Given the description of an element on the screen output the (x, y) to click on. 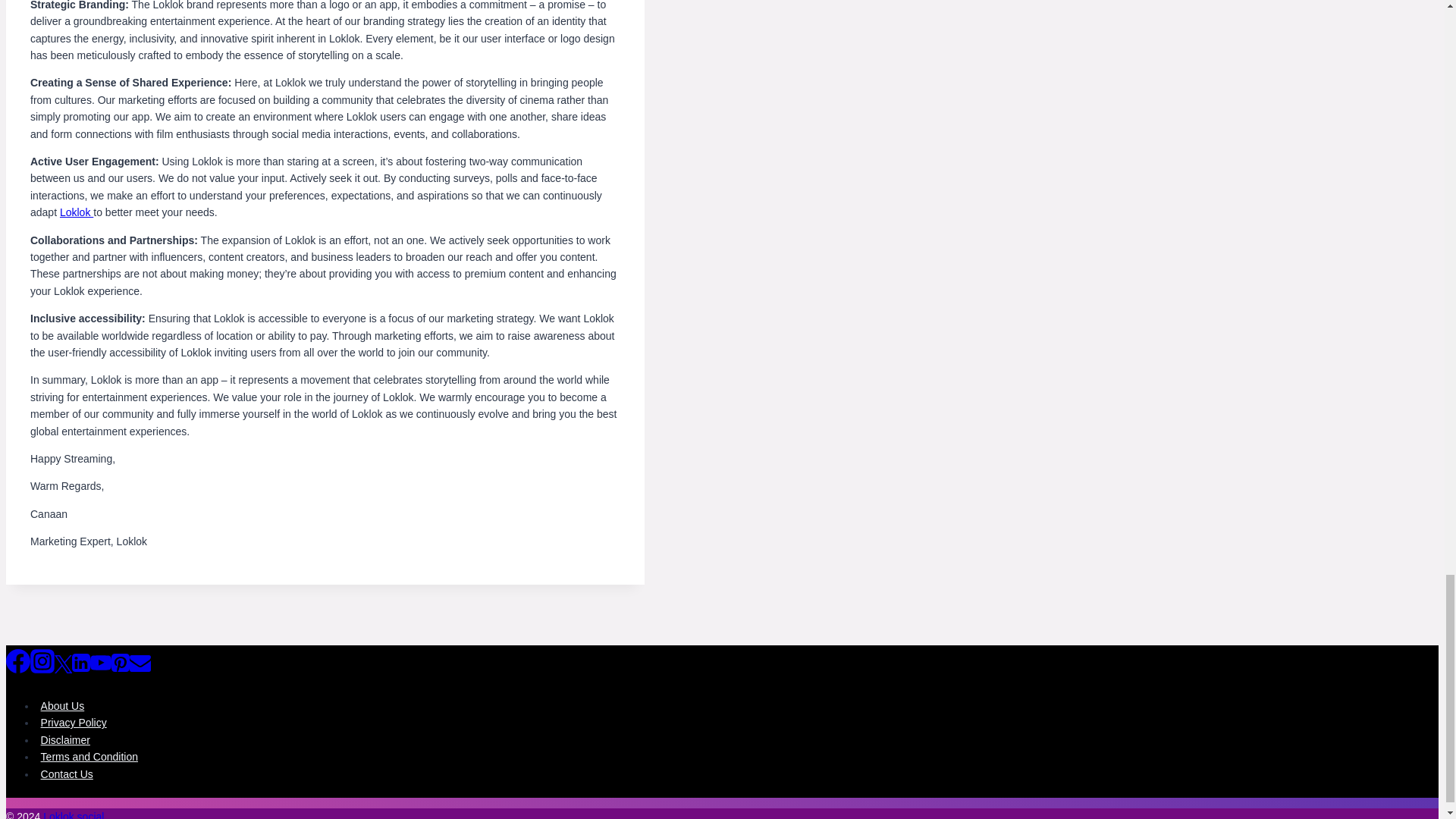
Disclaimer (65, 739)
Contact Us (66, 774)
Email (140, 662)
Email (140, 669)
Facebook (17, 661)
X (63, 664)
Terms and Condition (89, 756)
YouTube (101, 662)
Linkedin (80, 669)
YouTube (101, 669)
Instagram (42, 661)
X (63, 669)
Privacy Policy (73, 722)
Instagram (42, 669)
Pinterest (120, 669)
